Given the description of an element on the screen output the (x, y) to click on. 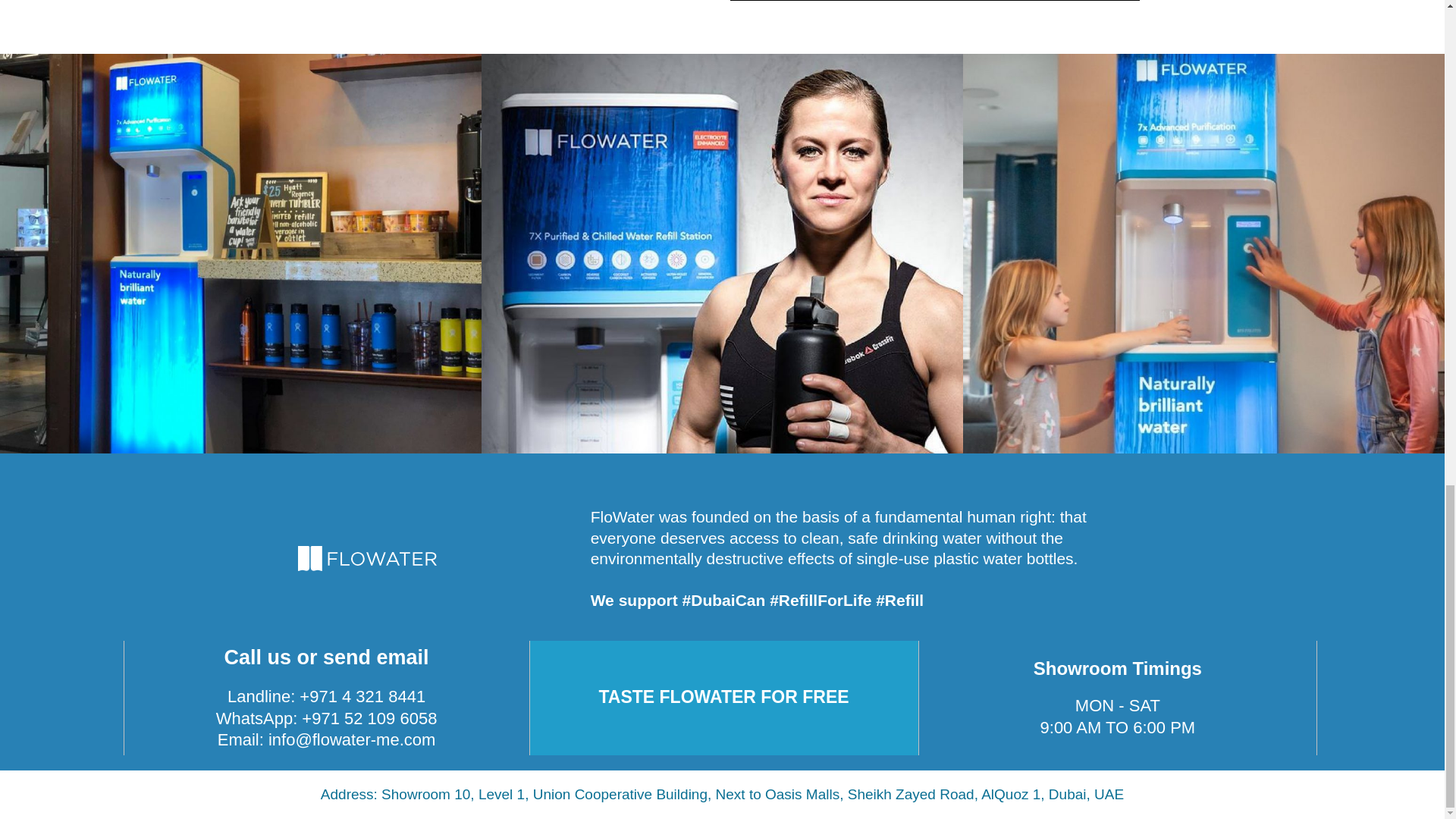
TASTE FLOWATER FOR FREE (723, 696)
